Given the description of an element on the screen output the (x, y) to click on. 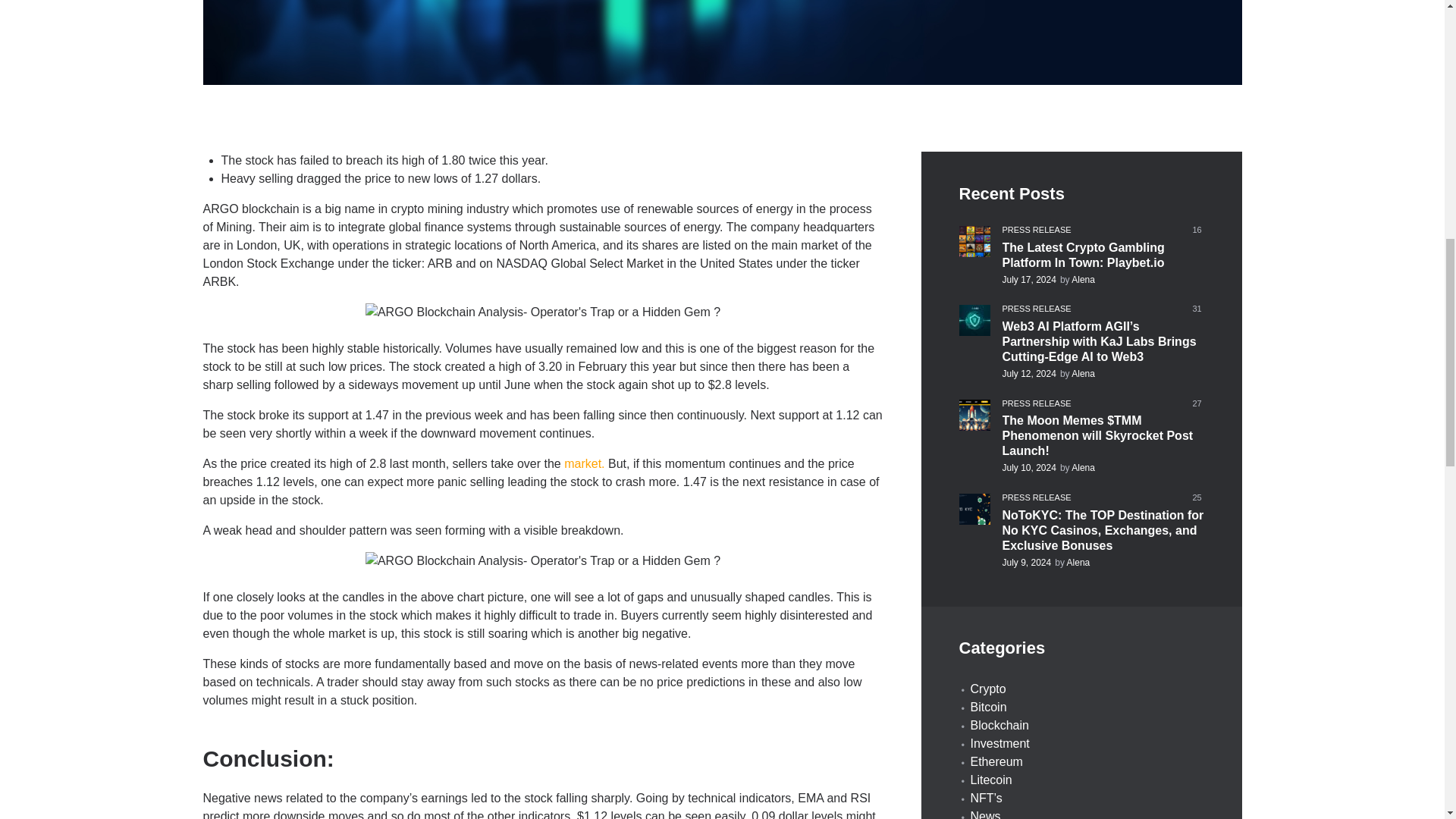
View all posts in Press Release (1037, 497)
View all posts in Press Release (1037, 307)
View all posts in Press Release (1037, 229)
market. (584, 463)
View all posts in Press Release (1037, 402)
